Given the description of an element on the screen output the (x, y) to click on. 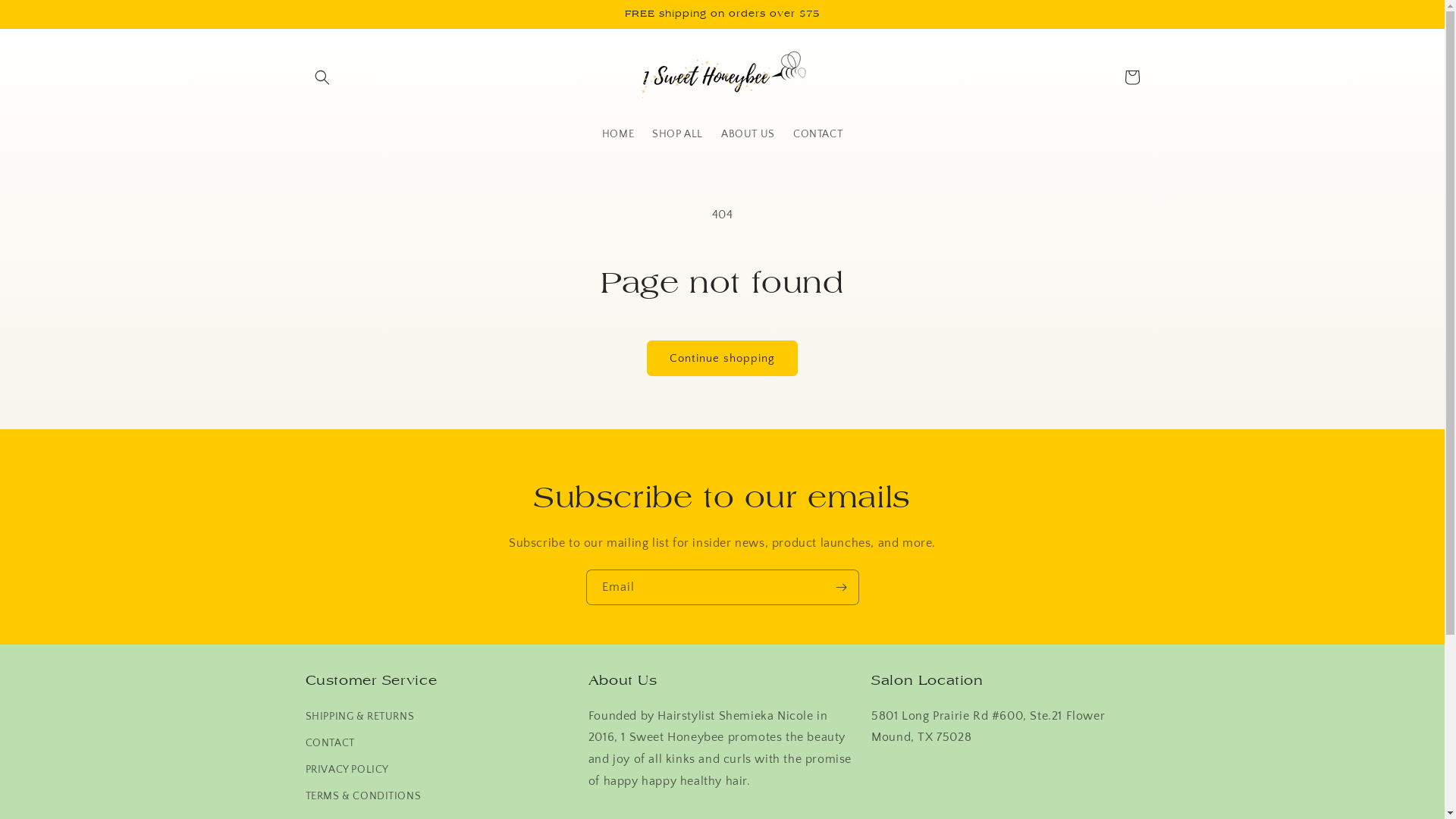
HOME Element type: text (618, 134)
Continue shopping Element type: text (721, 358)
CONTACT Element type: text (329, 743)
SHOP ALL Element type: text (677, 134)
SHIPPING & RETURNS Element type: text (359, 718)
PRIVACY POLICY Element type: text (346, 769)
ABOUT US Element type: text (748, 134)
Cart Element type: text (1131, 77)
TERMS & CONDITIONS Element type: text (362, 796)
CONTACT Element type: text (817, 134)
